Given the description of an element on the screen output the (x, y) to click on. 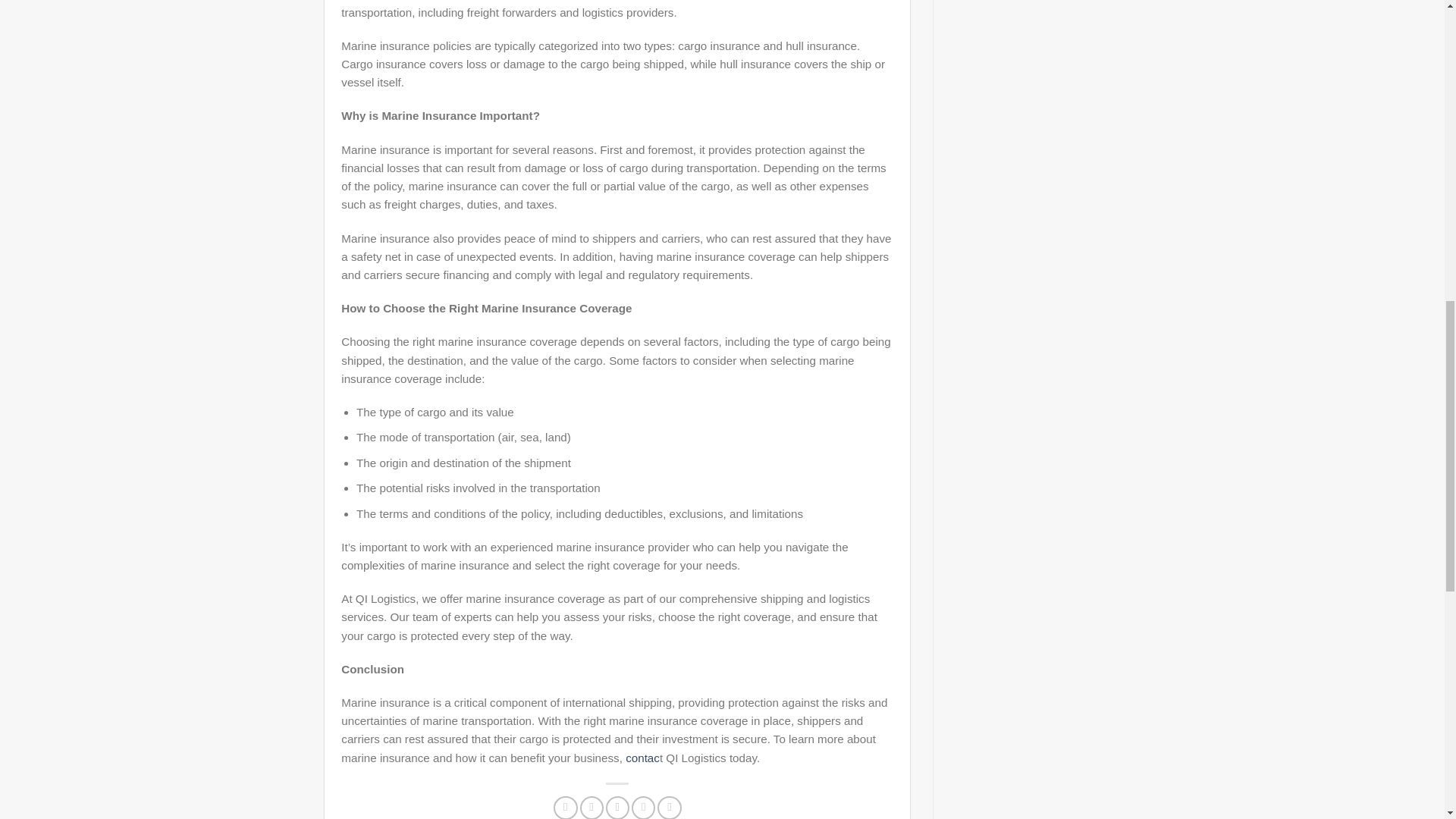
Email to a Friend (616, 807)
Share on Facebook (564, 807)
contac (642, 757)
Share on Twitter (590, 807)
Share on LinkedIn (669, 807)
Pin on Pinterest (643, 807)
